Given the description of an element on the screen output the (x, y) to click on. 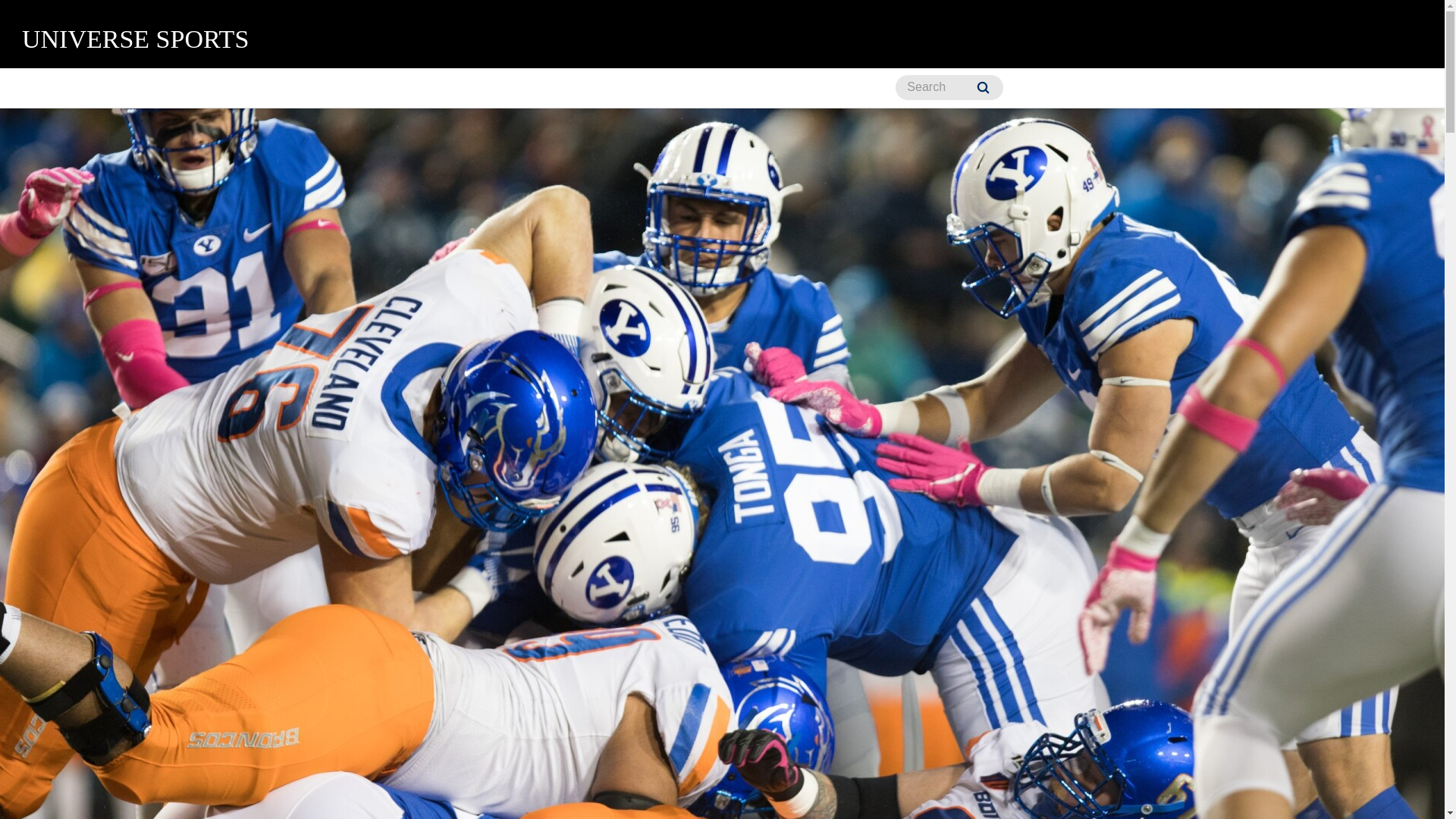
Baseball (50, 87)
Track and Field (748, 87)
Search (982, 87)
Football (404, 87)
Golf (472, 87)
Volleyball (850, 87)
Basketball (138, 87)
Cross Country (308, 87)
Tennis (652, 87)
Swim and Dive (559, 87)
